Given the description of an element on the screen output the (x, y) to click on. 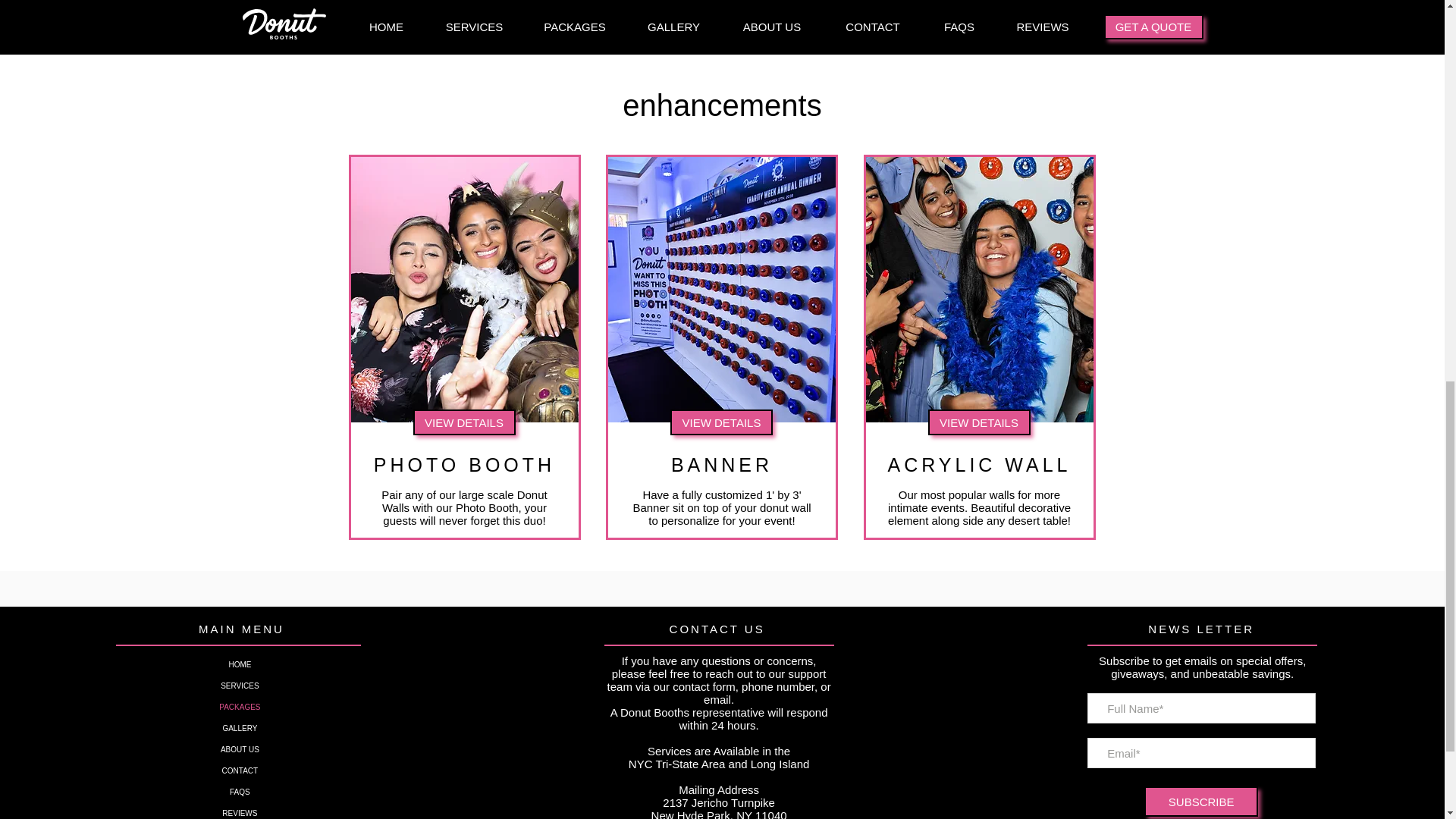
REVIEWS (239, 811)
HOME (239, 664)
FAQS (239, 792)
VIEW DETAILS (463, 421)
SUBSCRIBE (1200, 801)
SERVICES (239, 685)
CONTACT (239, 771)
ABOUT US (239, 749)
GALLERY (239, 728)
